Given the description of an element on the screen output the (x, y) to click on. 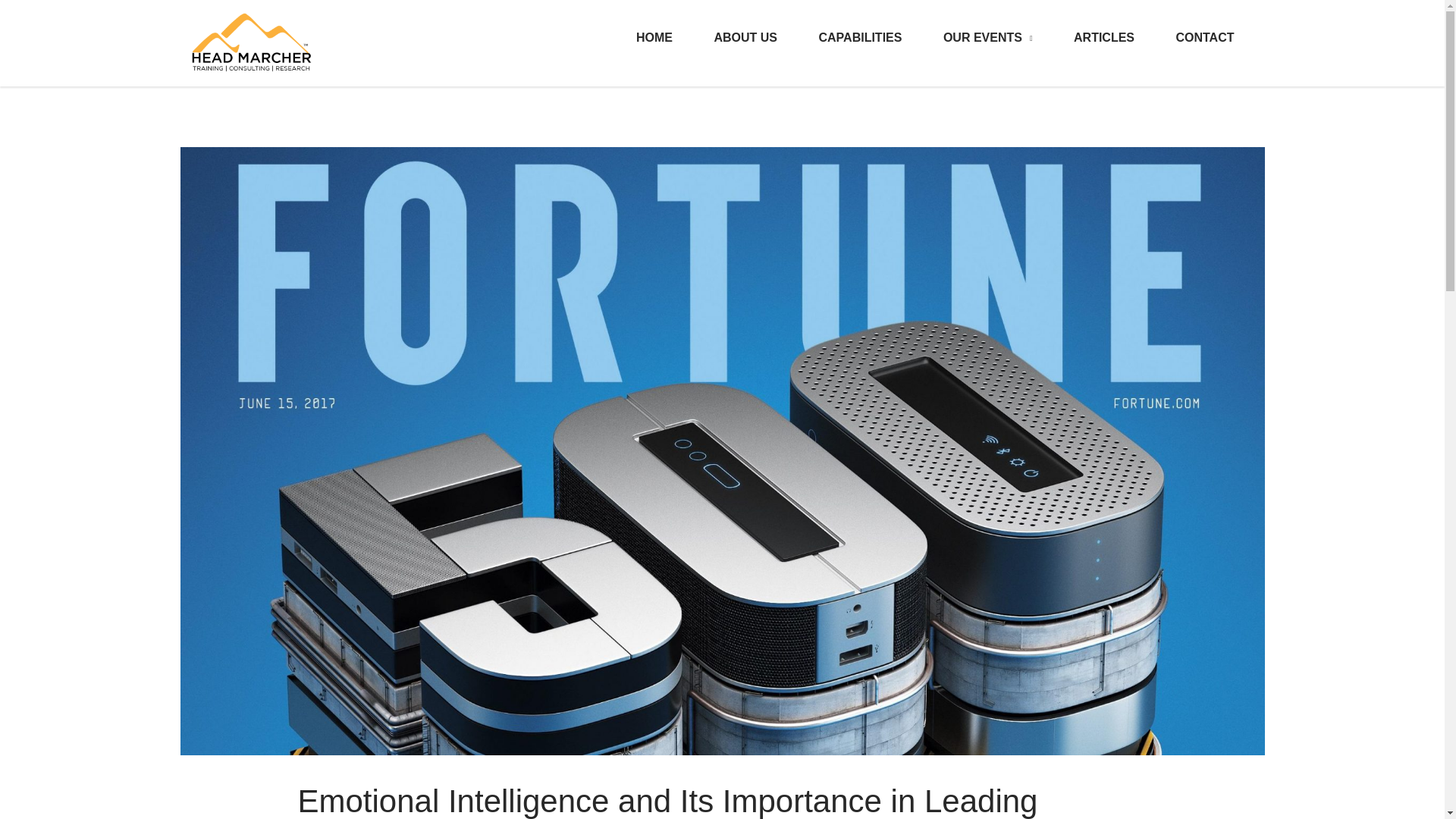
HOME (654, 38)
ARTICLES (1103, 38)
OUR EVENTS (987, 38)
ABOUT US (745, 38)
CONTACT (1204, 38)
CAPABILITIES (859, 38)
